Given the description of an element on the screen output the (x, y) to click on. 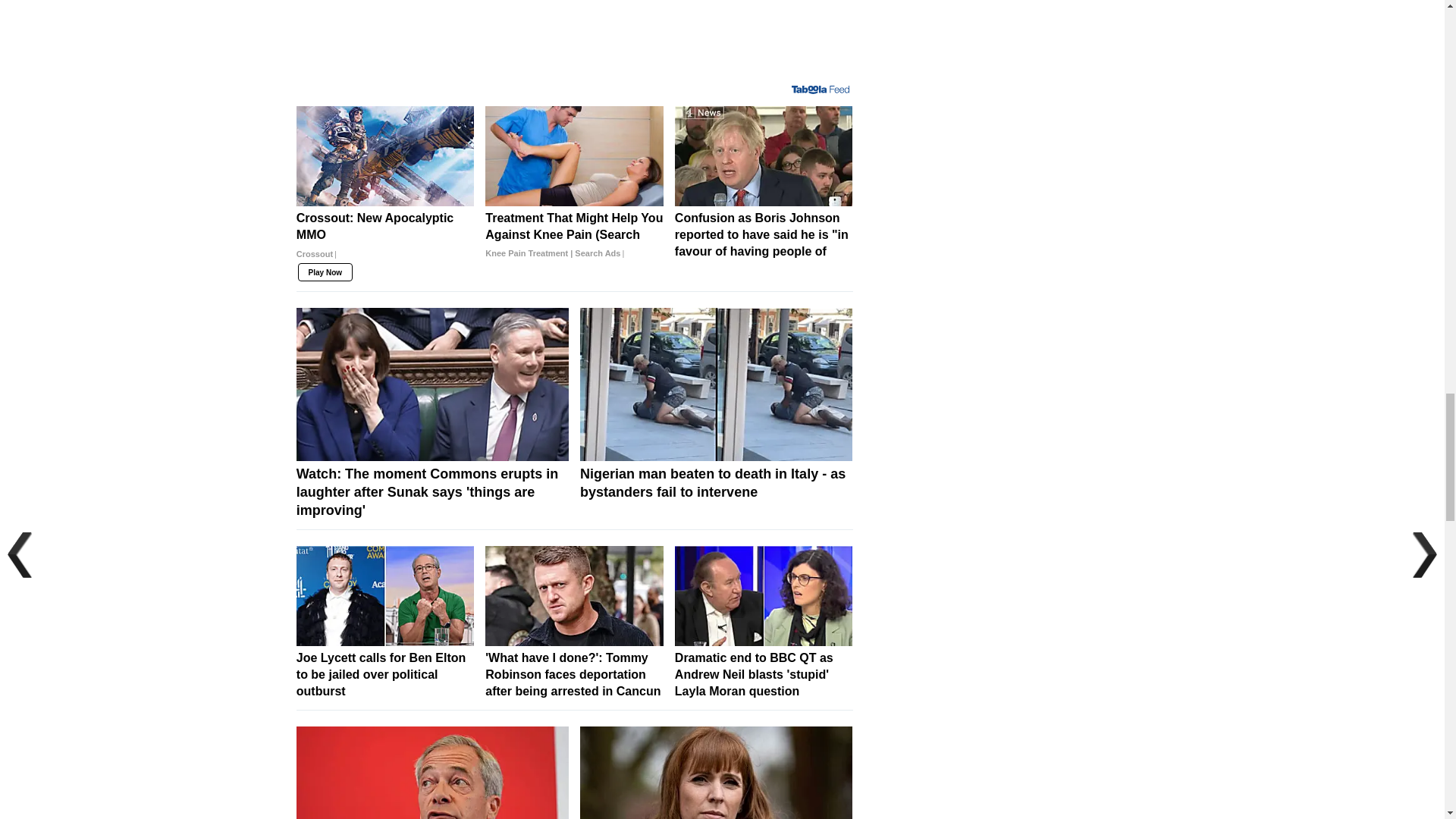
Crossout: New Apocalyptic MMO (385, 242)
